Given the description of an element on the screen output the (x, y) to click on. 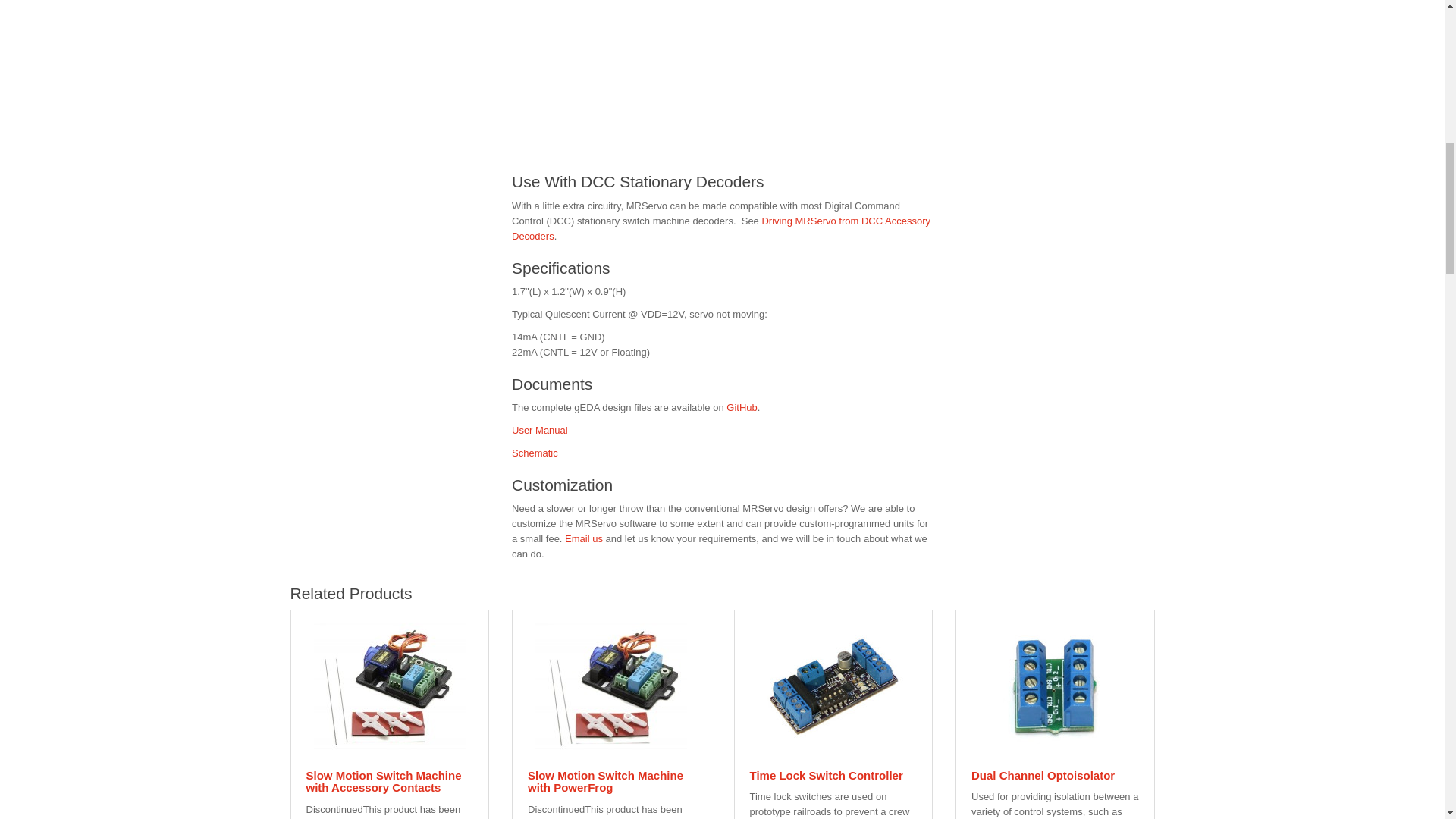
Slow Motion Switch Machine with PowerFrog (611, 686)
Slow Motion Switch Machine with Accessory Contacts (389, 686)
Time Lock Switch Controller (832, 686)
